Given the description of an element on the screen output the (x, y) to click on. 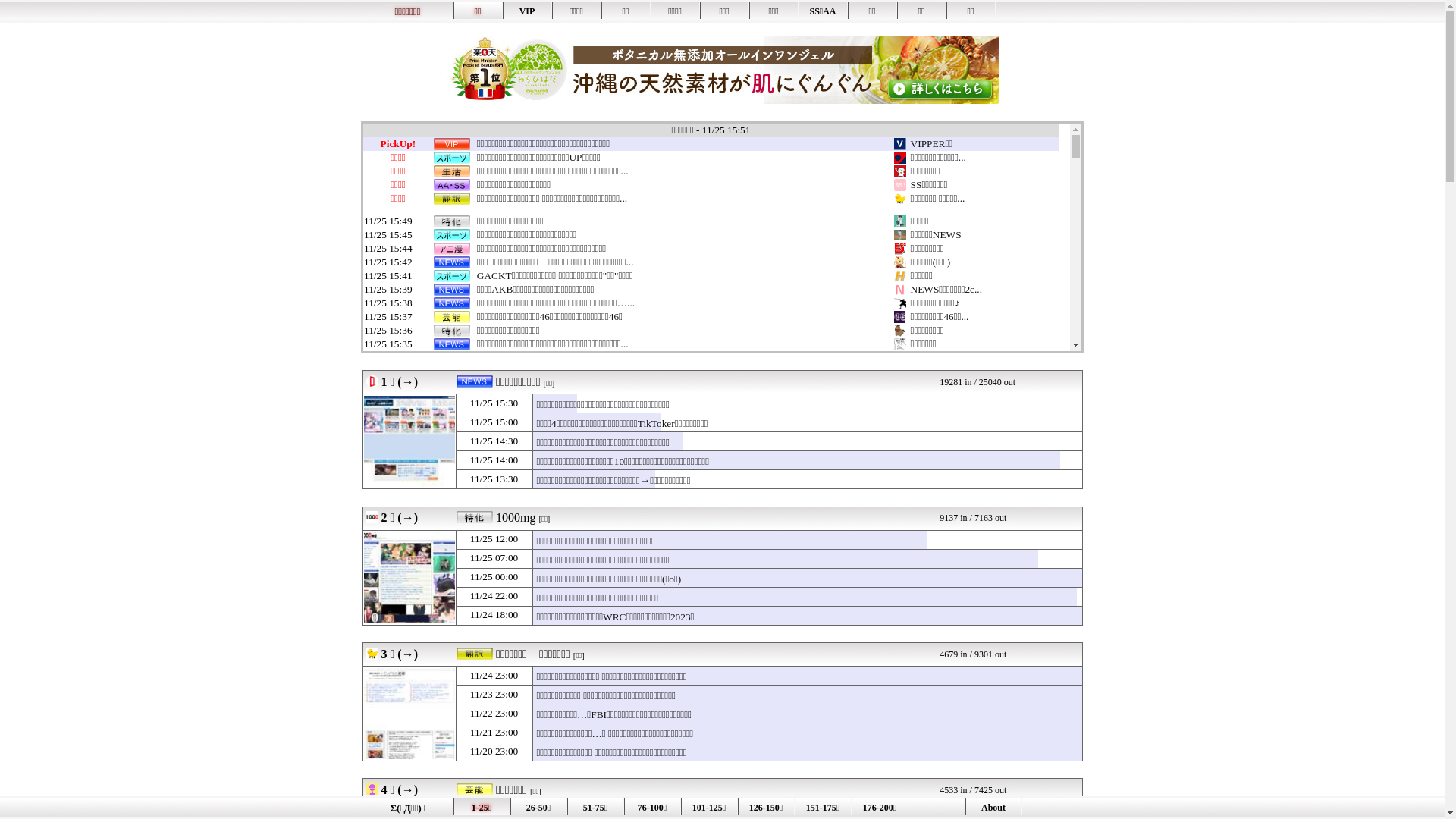
1000mg Element type: hover (409, 577)
About Element type: text (992, 806)
VIP Element type: text (526, 9)
1000mg Element type: text (515, 517)
SAMURAI Footb... Element type: text (950, 384)
